Given the description of an element on the screen output the (x, y) to click on. 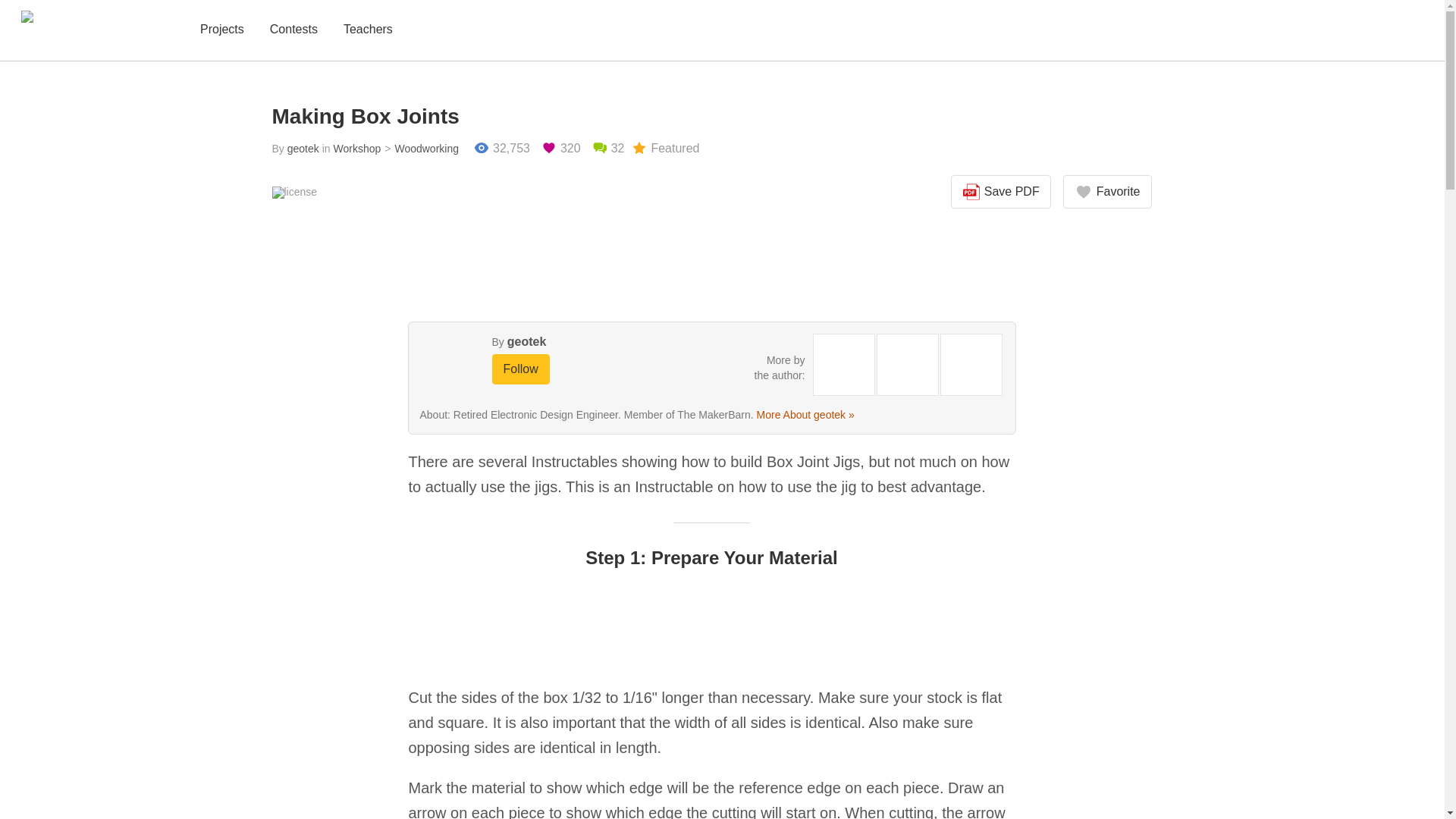
geotek (526, 341)
Contests (293, 30)
Teachers (368, 30)
Save PDF (1000, 191)
Projects (221, 30)
Workshop (356, 148)
Follow (520, 368)
Favorite (1106, 191)
Woodworking (419, 148)
32 (608, 148)
